Given the description of an element on the screen output the (x, y) to click on. 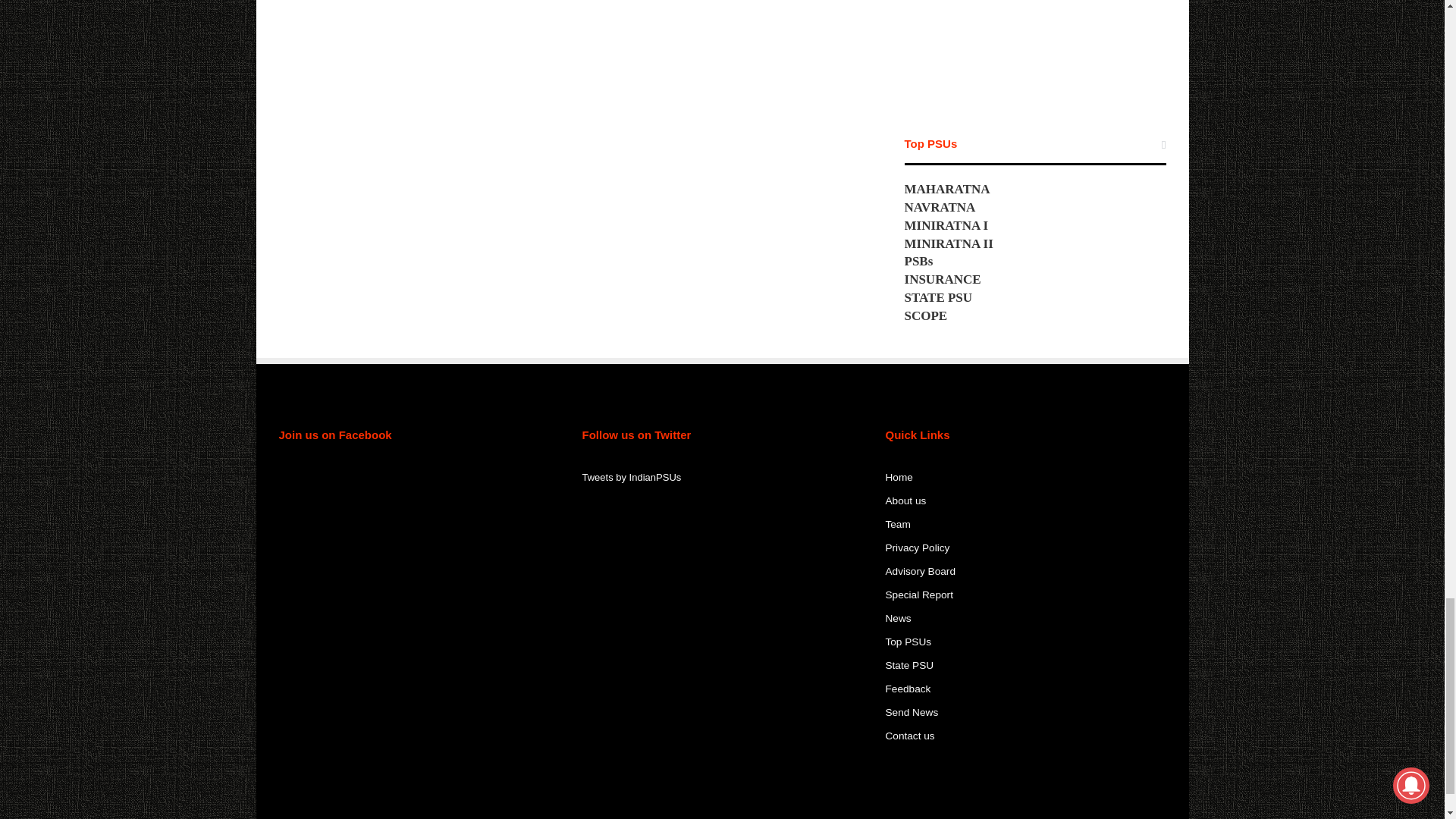
YouTube video player (1035, 48)
